Given the description of an element on the screen output the (x, y) to click on. 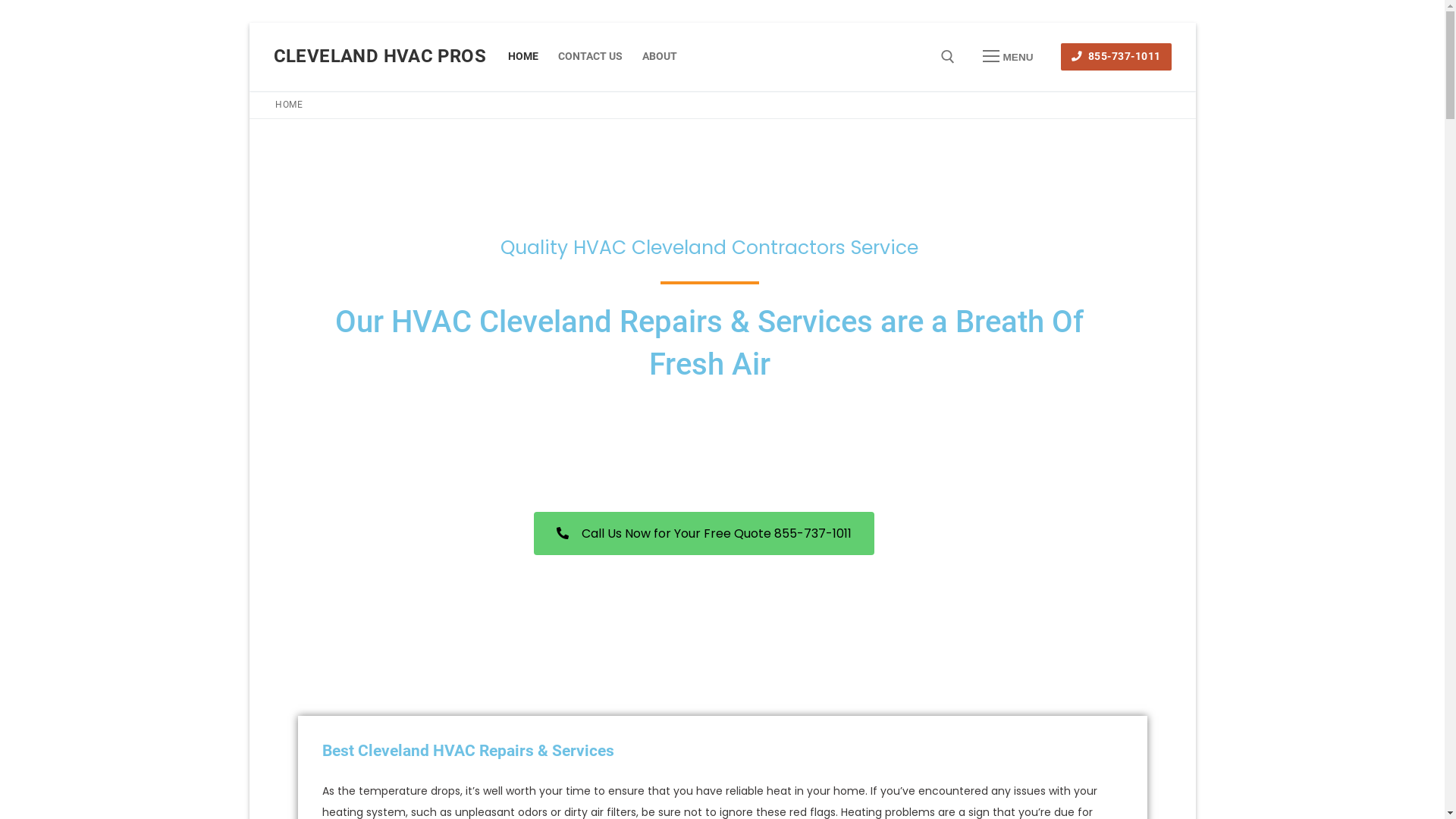
Call Us Now for Your Free Quote 855-737-1011 Element type: text (703, 533)
CONTACT US Element type: text (590, 56)
MENU Element type: text (1007, 56)
CLEVELAND HVAC PROS Element type: text (379, 56)
ABOUT Element type: text (659, 56)
855-737-1011 Element type: text (1115, 57)
HOME Element type: text (523, 56)
